Given the description of an element on the screen output the (x, y) to click on. 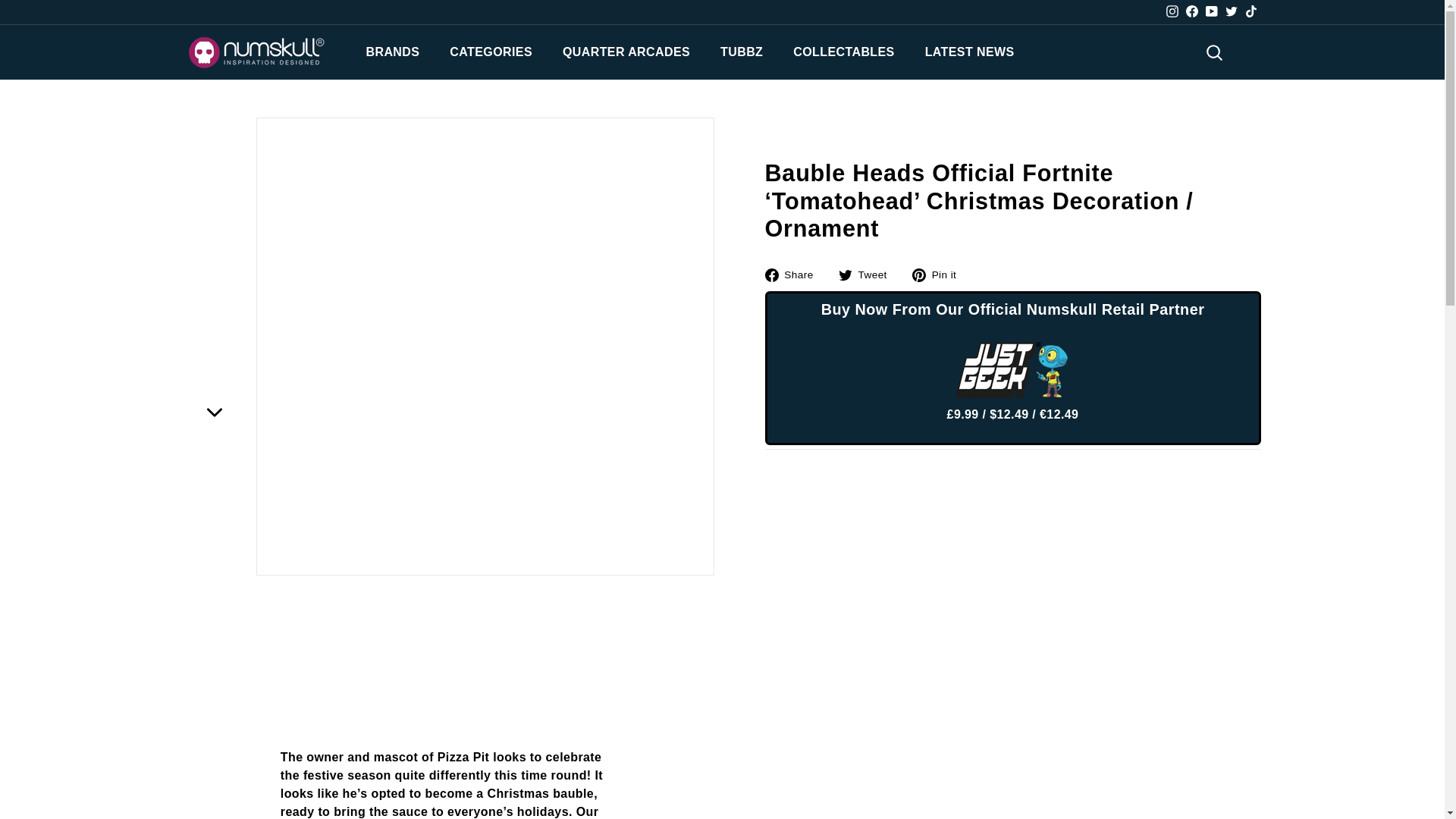
Pin on Pinterest (940, 274)
Tweet on Twitter (868, 274)
BRANDS (391, 51)
Share on Facebook (794, 274)
